Given the description of an element on the screen output the (x, y) to click on. 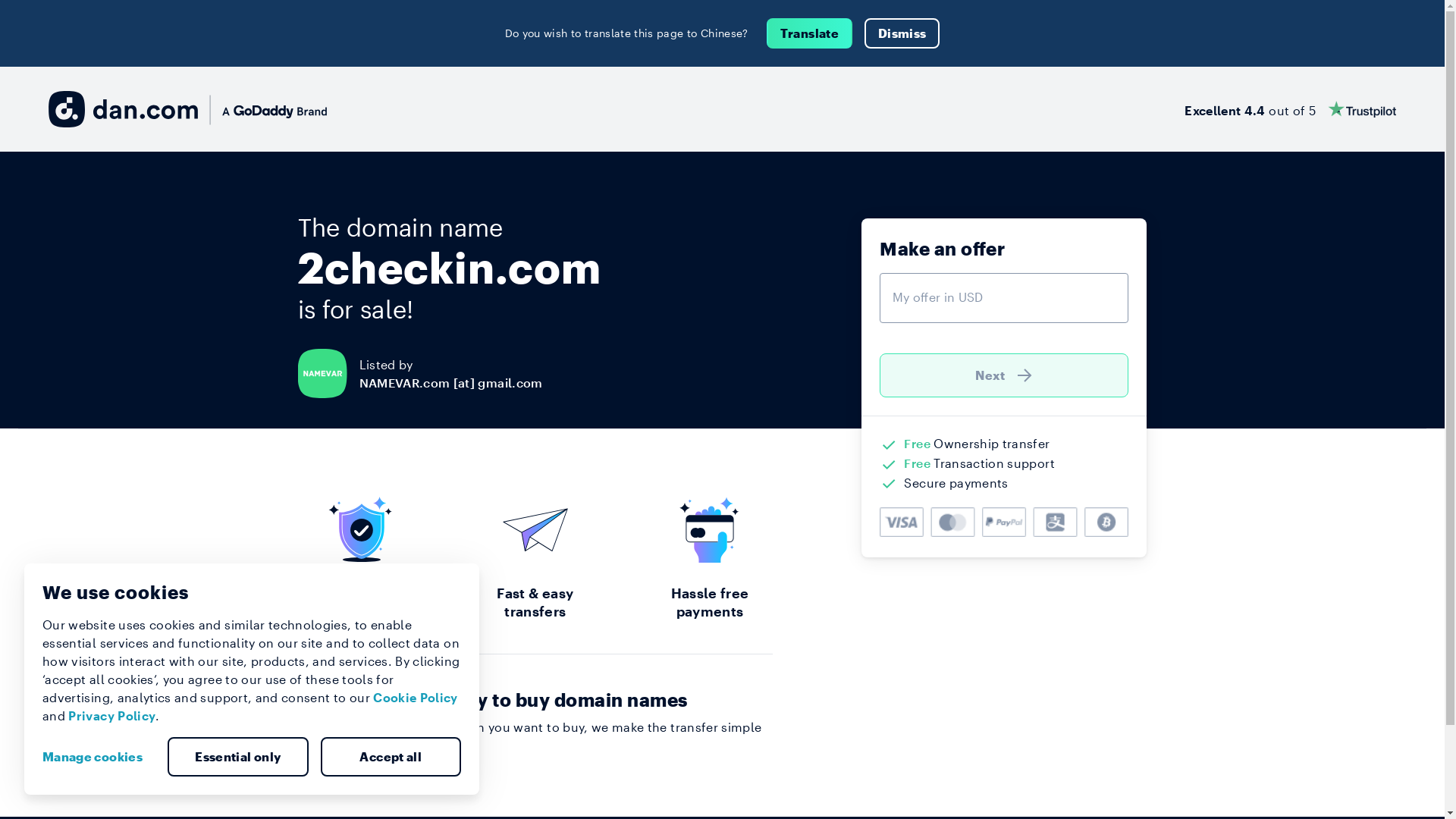
Accept all Element type: text (390, 756)
Dismiss Element type: text (901, 33)
Manage cookies Element type: text (98, 756)
Privacy Policy Element type: text (111, 715)
Essential only Element type: text (237, 756)
Translate Element type: text (809, 33)
Cookie Policy Element type: text (415, 697)
Excellent 4.4 out of 5 Element type: text (1290, 109)
Next
) Element type: text (1003, 375)
